Given the description of an element on the screen output the (x, y) to click on. 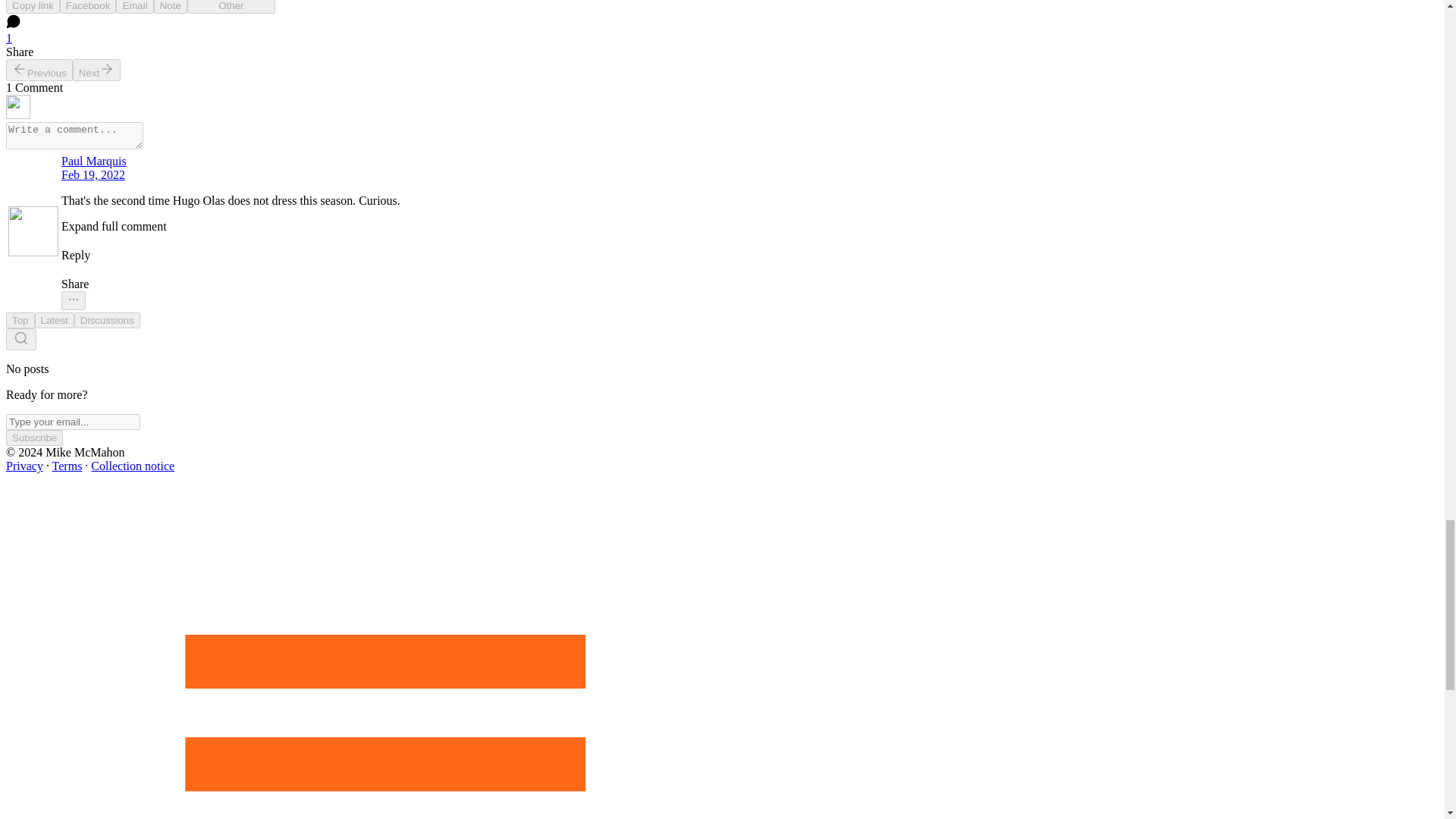
Note (170, 6)
Copy link (32, 6)
Facebook (87, 6)
Paul Marquis (230, 161)
Previous (38, 69)
Next (96, 69)
Email (134, 6)
Other (231, 6)
